Given the description of an element on the screen output the (x, y) to click on. 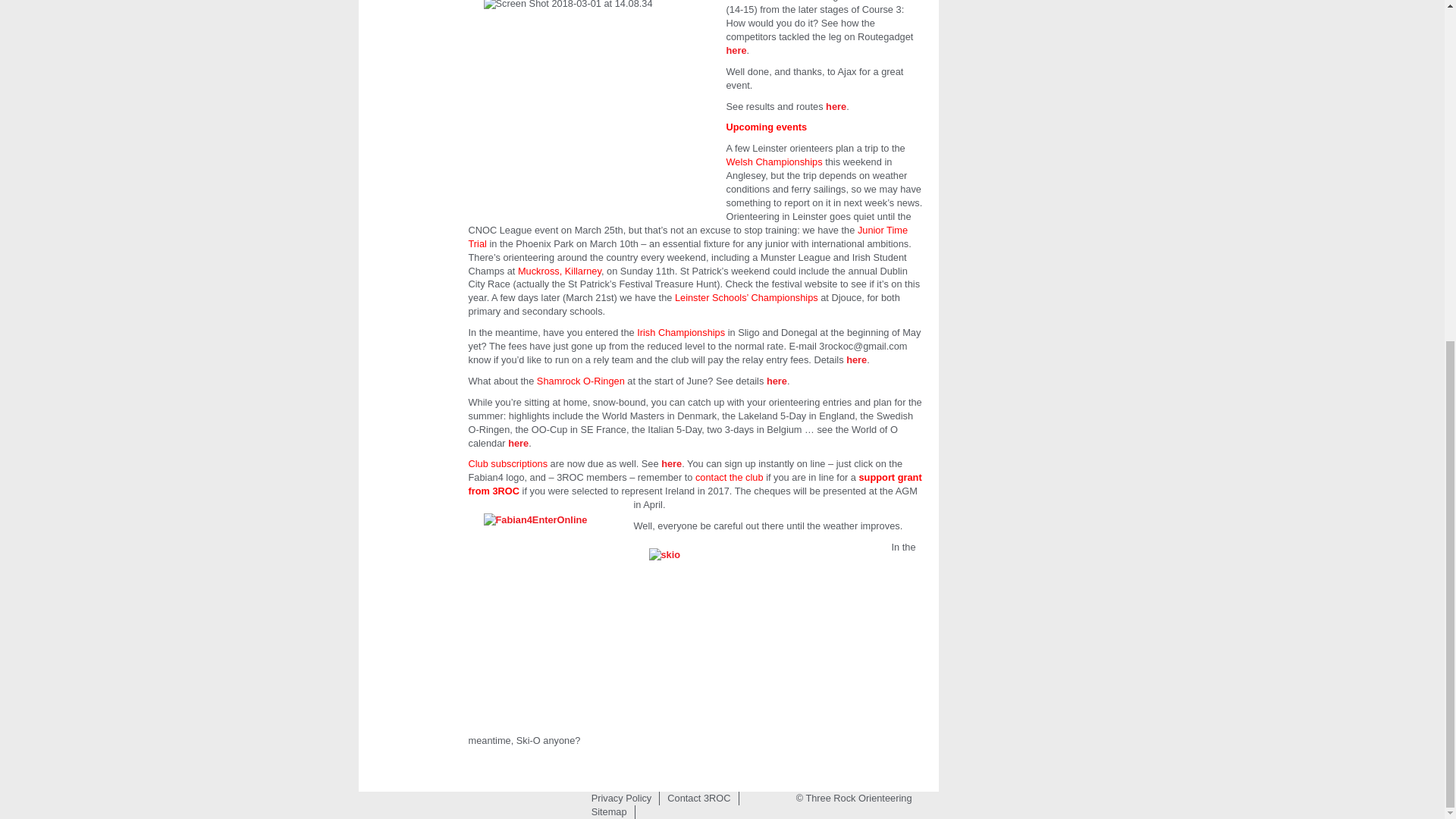
here (855, 359)
here (777, 380)
here (835, 106)
Privacy Policy (621, 797)
Contact 3ROC (698, 797)
here (518, 442)
here (671, 463)
here (736, 50)
Sitemap (608, 811)
Three Rock Orienteering (854, 797)
